Given the description of an element on the screen output the (x, y) to click on. 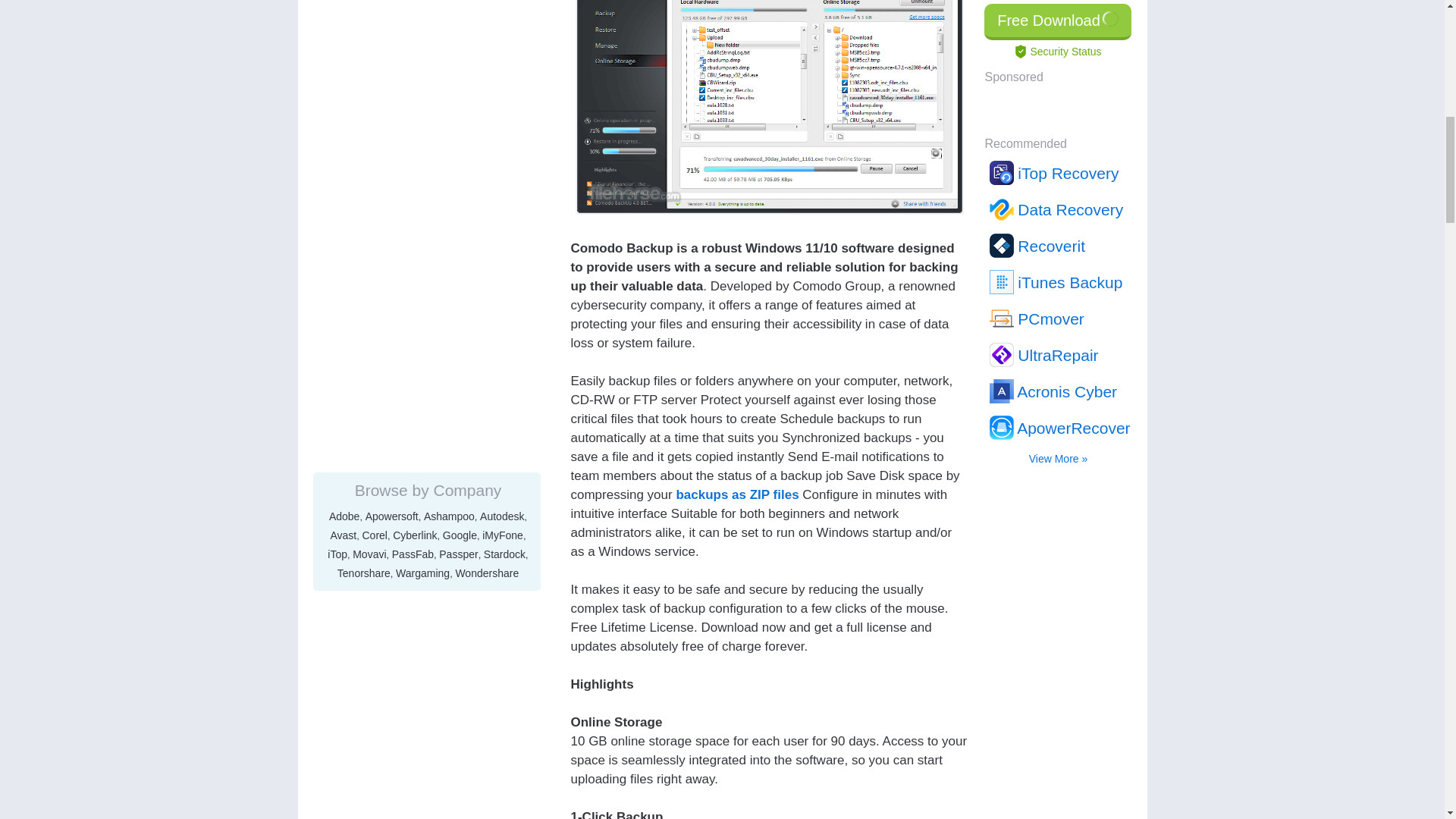
Wondershare (486, 144)
Corel (374, 106)
Movavi (368, 125)
Avast (343, 106)
Ashampoo (448, 87)
Tenorshare (363, 144)
PassFab (412, 125)
Stardock (504, 125)
iTop (337, 125)
Cyberlink (414, 106)
Adobe (344, 87)
Apowersoft (392, 87)
Google (459, 106)
Passper (458, 125)
ApowerRecover (1059, 11)
